Given the description of an element on the screen output the (x, y) to click on. 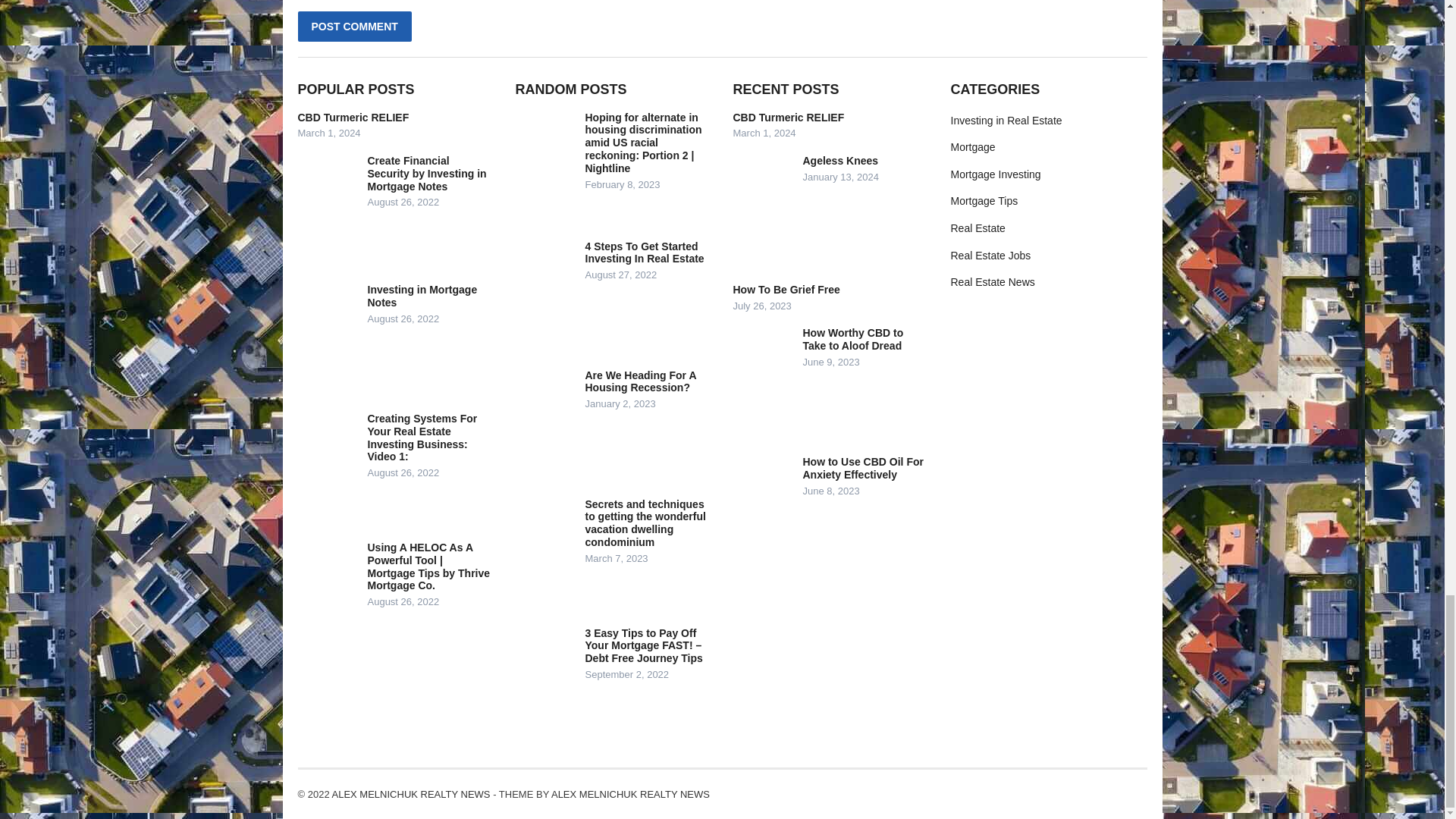
Post Comment (353, 26)
